Given the description of an element on the screen output the (x, y) to click on. 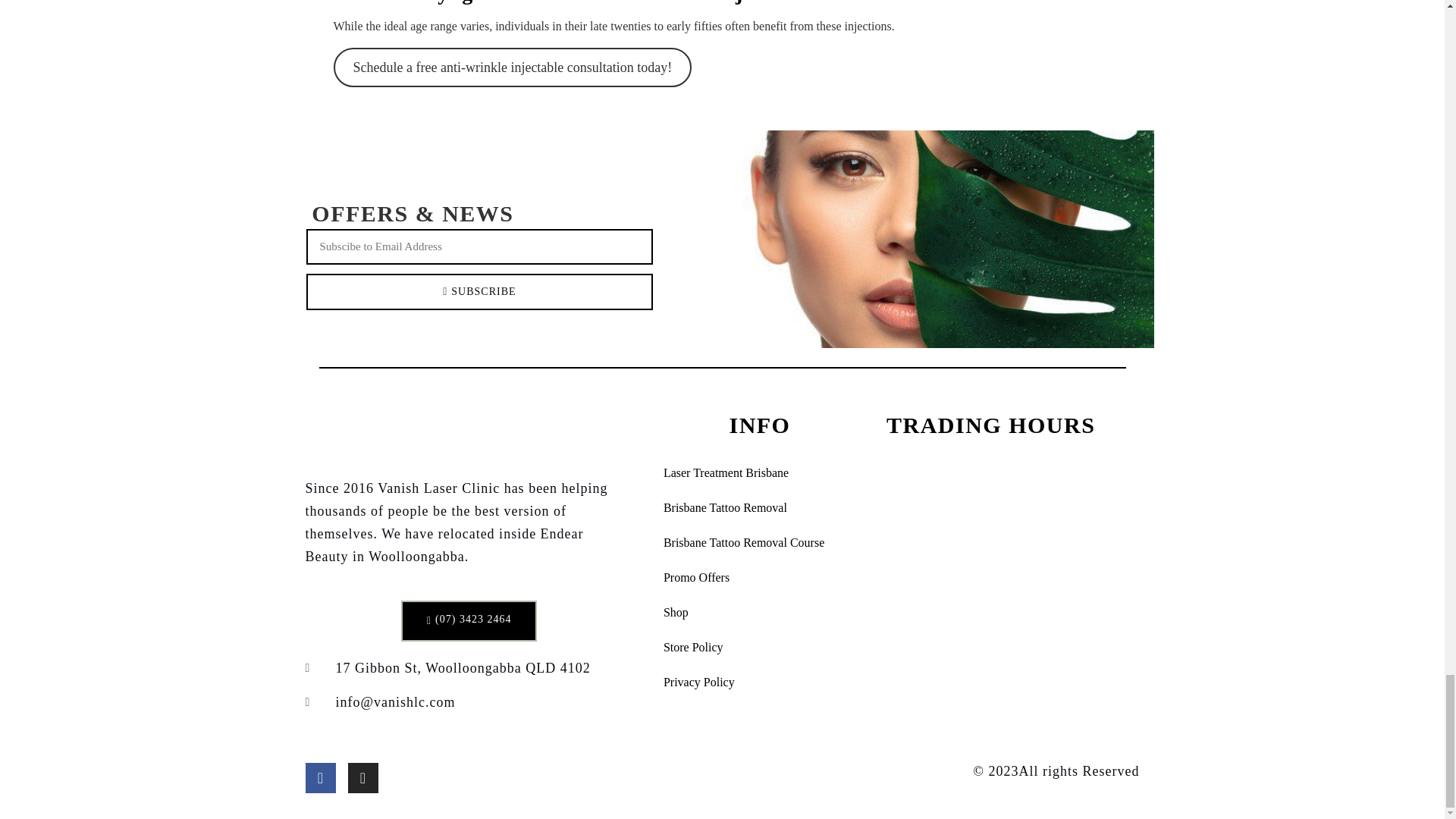
Laser Treatment Brisbane (758, 472)
Store Policy (758, 647)
Shop (758, 612)
Privacy Policy (758, 682)
Promo Offers (758, 577)
Brisbane Tattoo Removal (758, 507)
Schedule a free anti-wrinkle injectable consultation today! (513, 66)
Brisbane Tattoo Removal Course (758, 542)
SUBSCRIBE (479, 291)
